Given the description of an element on the screen output the (x, y) to click on. 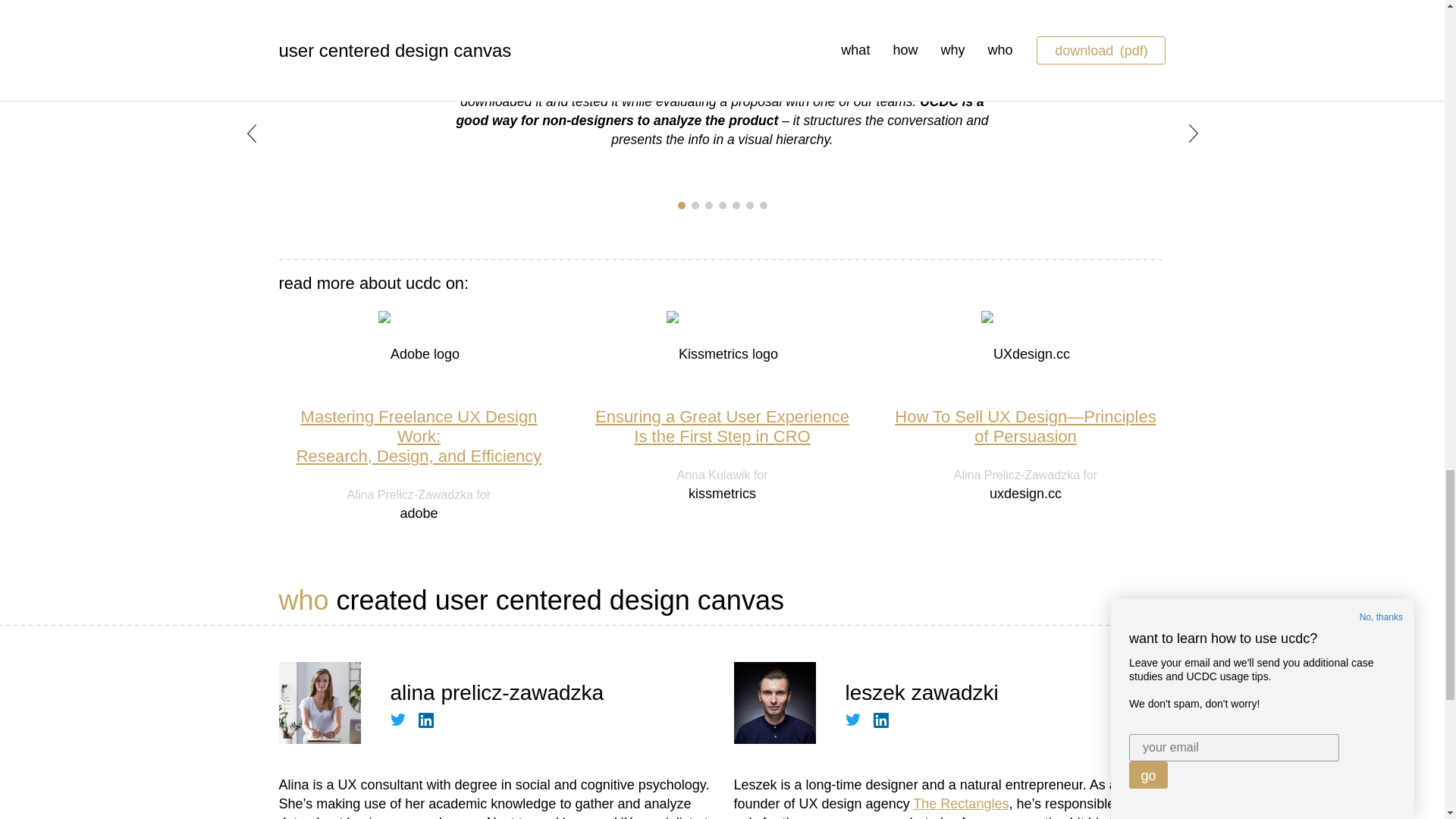
7 (763, 205)
4 (722, 205)
6 (749, 205)
1 (681, 205)
5 (721, 426)
2 (735, 205)
3 (694, 205)
